Given the description of an element on the screen output the (x, y) to click on. 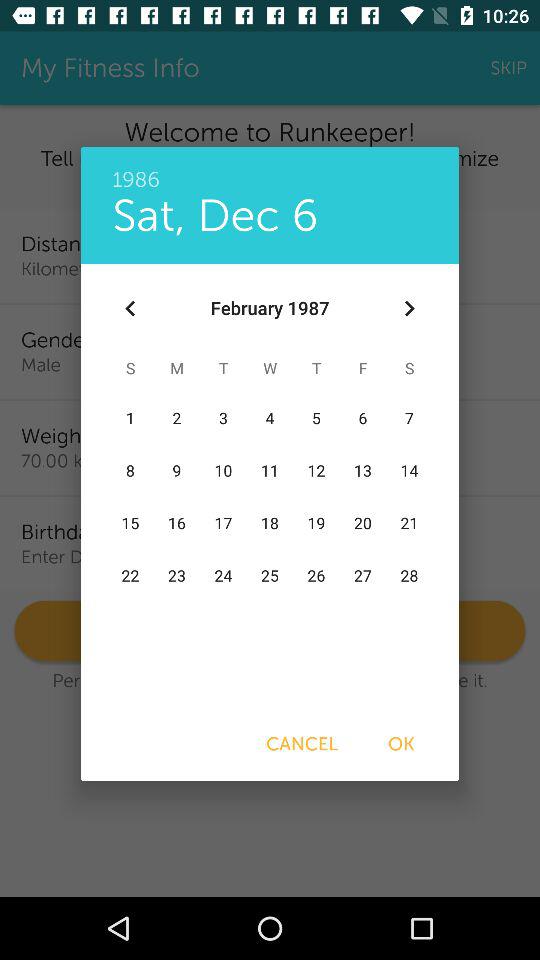
select item below sat, dec 6 icon (130, 308)
